Given the description of an element on the screen output the (x, y) to click on. 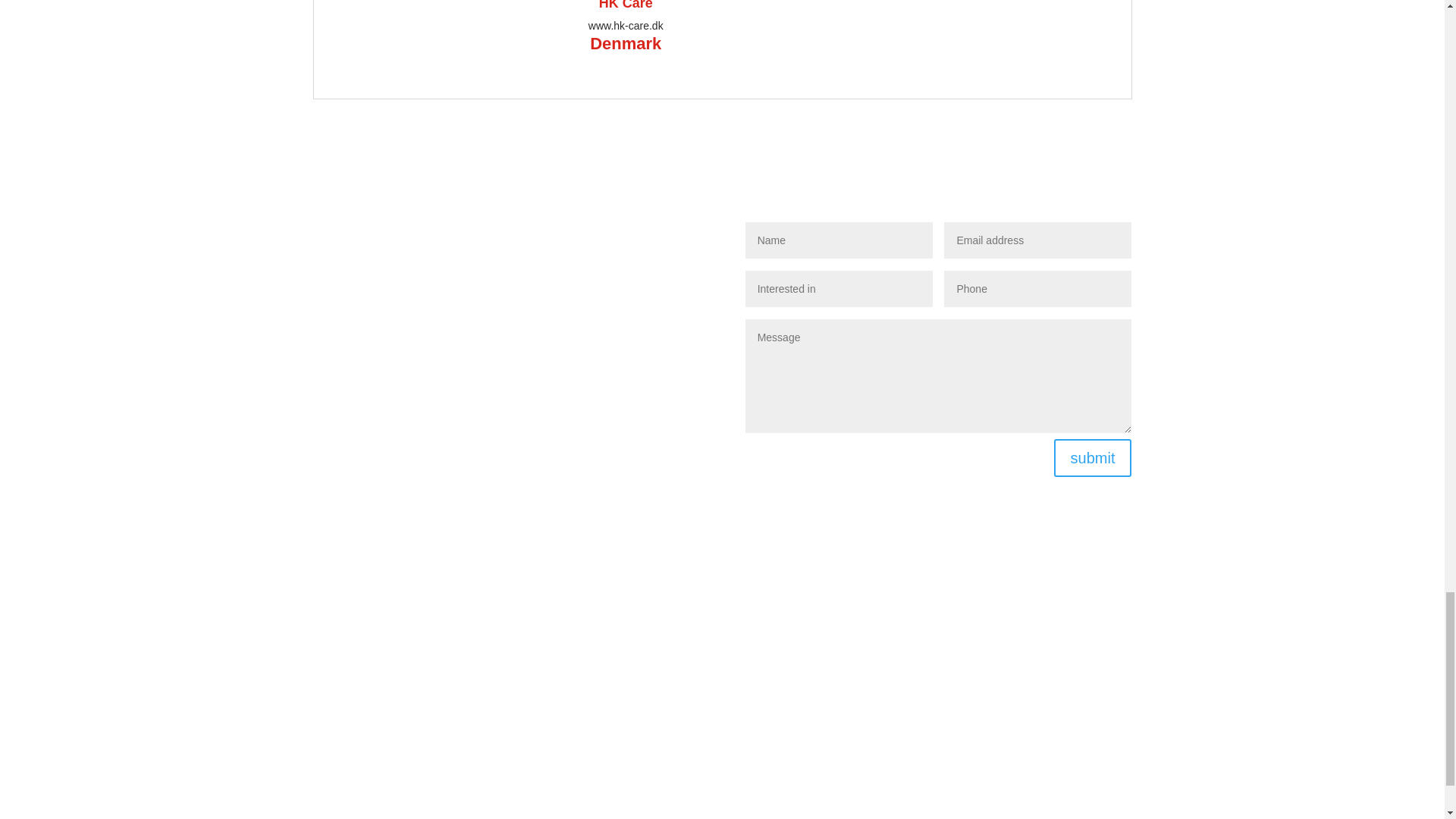
Follow on Facebook (900, 656)
Only numbers allowed. (1037, 289)
Follow on Instagram (961, 656)
www.hk-care.dk (625, 25)
Follow on Youtube (930, 656)
